Given the description of an element on the screen output the (x, y) to click on. 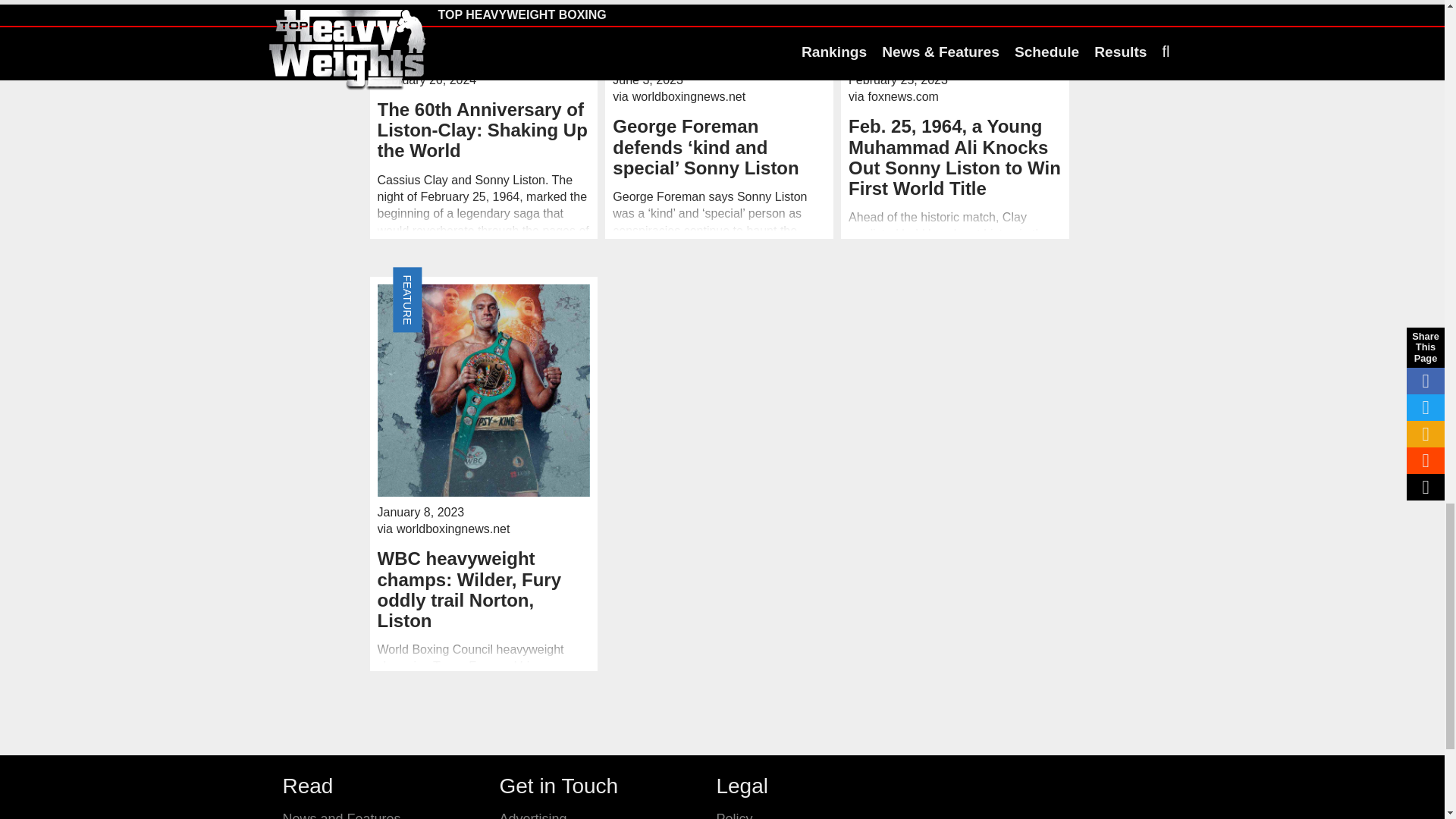
The 60th Anniversary of Liston-Clay: Shaking Up the World (484, 129)
Advertising (532, 815)
News and Features (341, 815)
Policy (734, 815)
